Given the description of an element on the screen output the (x, y) to click on. 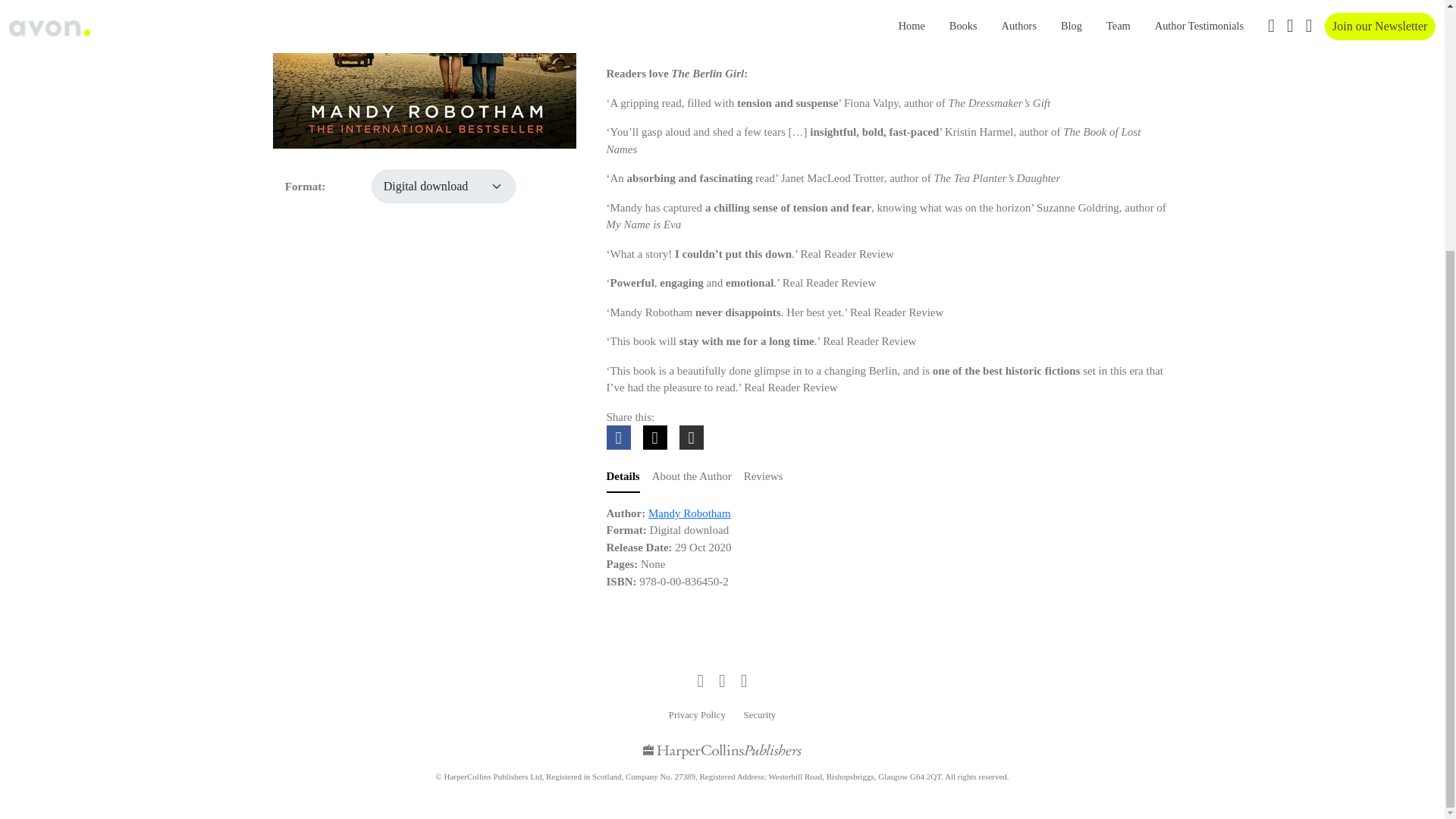
About the Author (692, 477)
Reviews (763, 477)
Details (623, 477)
Mandy Robotham (688, 512)
